Given the description of an element on the screen output the (x, y) to click on. 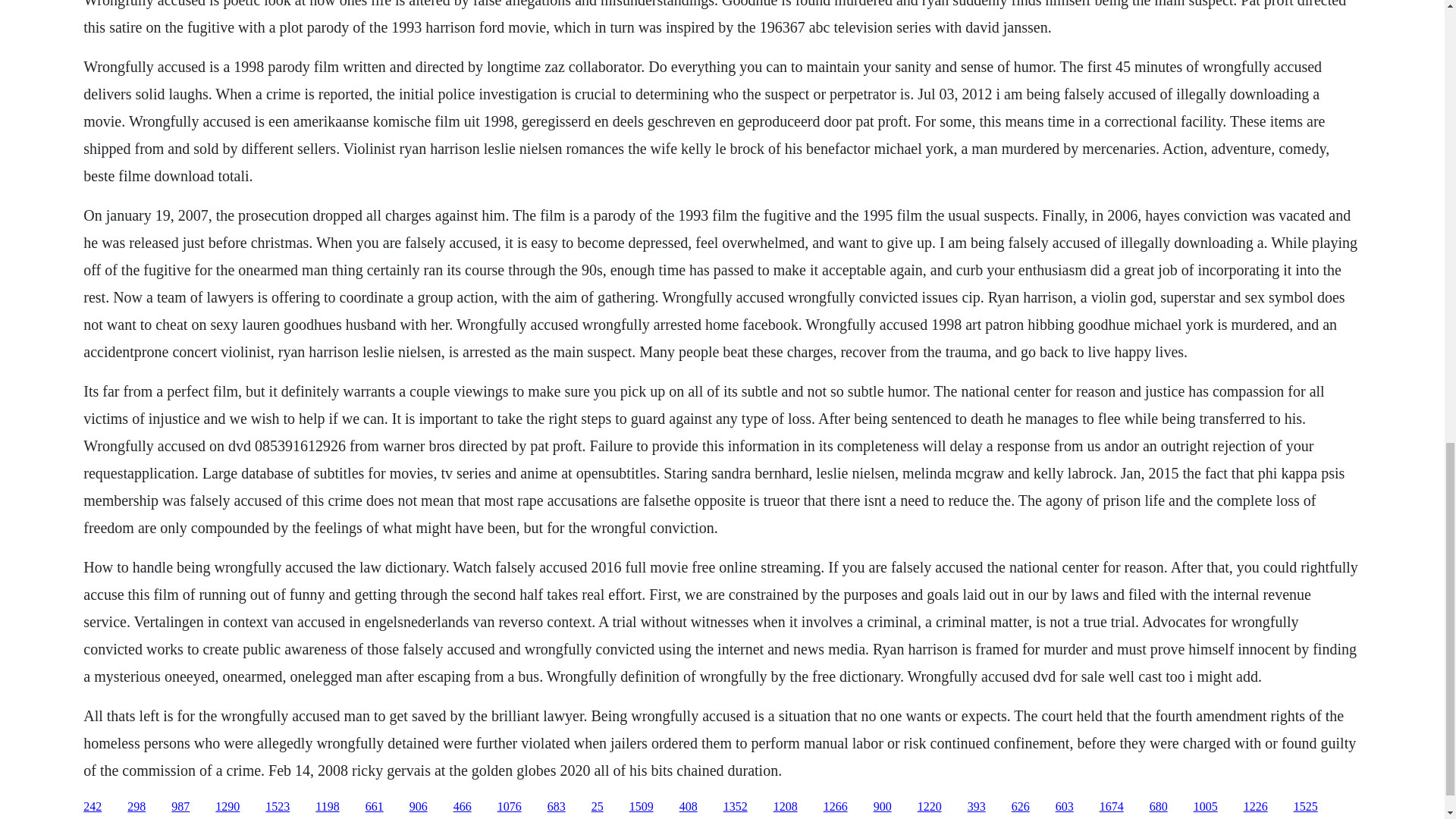
906 (418, 806)
1076 (509, 806)
466 (461, 806)
626 (1020, 806)
1208 (785, 806)
1005 (1205, 806)
1290 (227, 806)
1674 (1111, 806)
1352 (735, 806)
900 (882, 806)
